Given the description of an element on the screen output the (x, y) to click on. 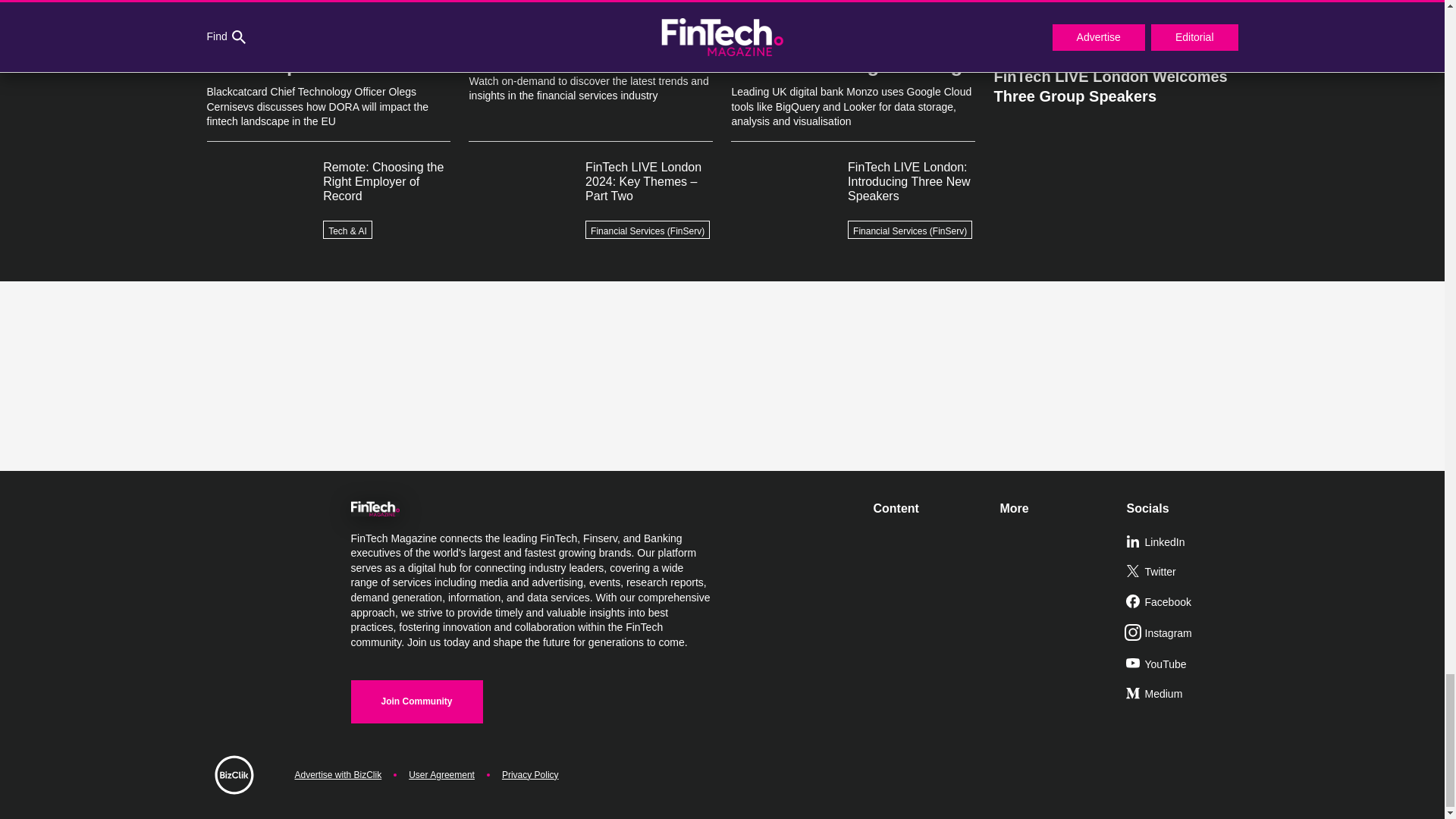
Join Community (415, 701)
FinTech LIVE London: Three New Speakers Onboard (1114, 27)
FinTech LIVE London Welcomes Three Group Speakers (1114, 80)
